Given the description of an element on the screen output the (x, y) to click on. 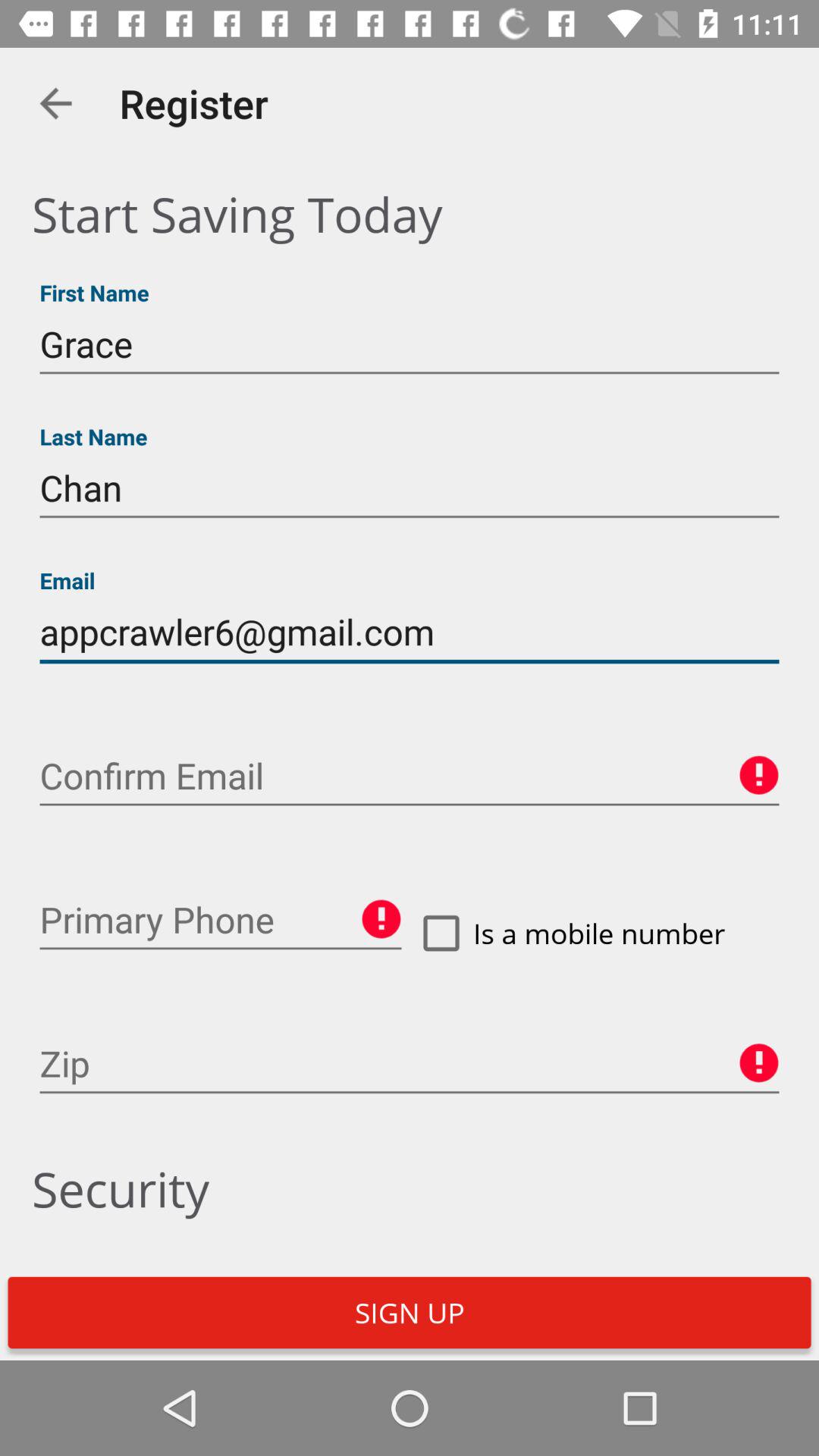
the number of the security (220, 920)
